Given the description of an element on the screen output the (x, y) to click on. 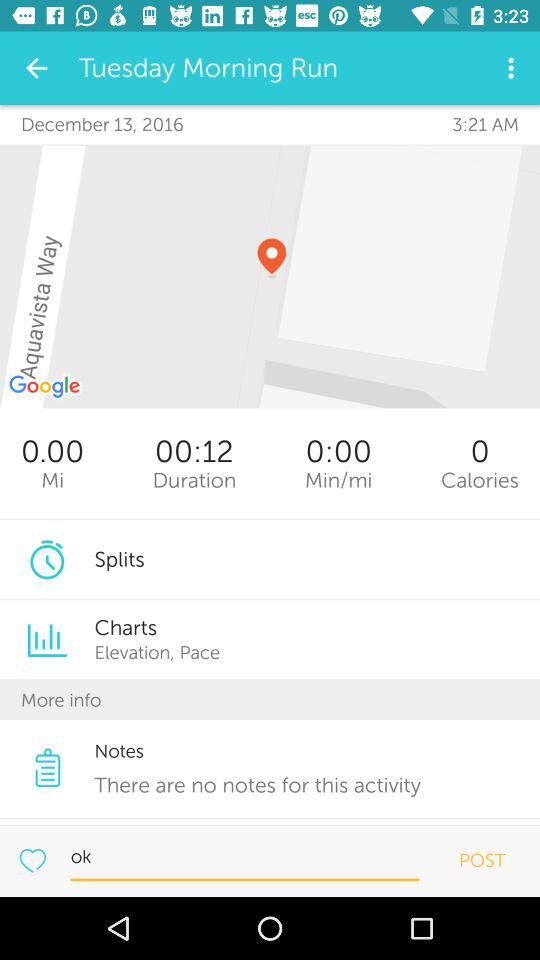
click on the image left to charts (47, 640)
click on icon which is on left to notes (47, 767)
